Given the description of an element on the screen output the (x, y) to click on. 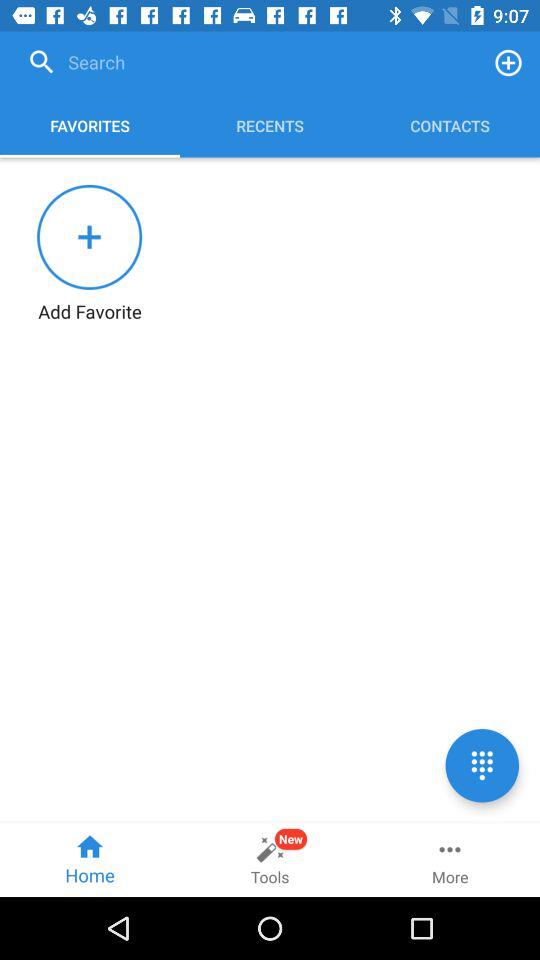
add contact (508, 62)
